Given the description of an element on the screen output the (x, y) to click on. 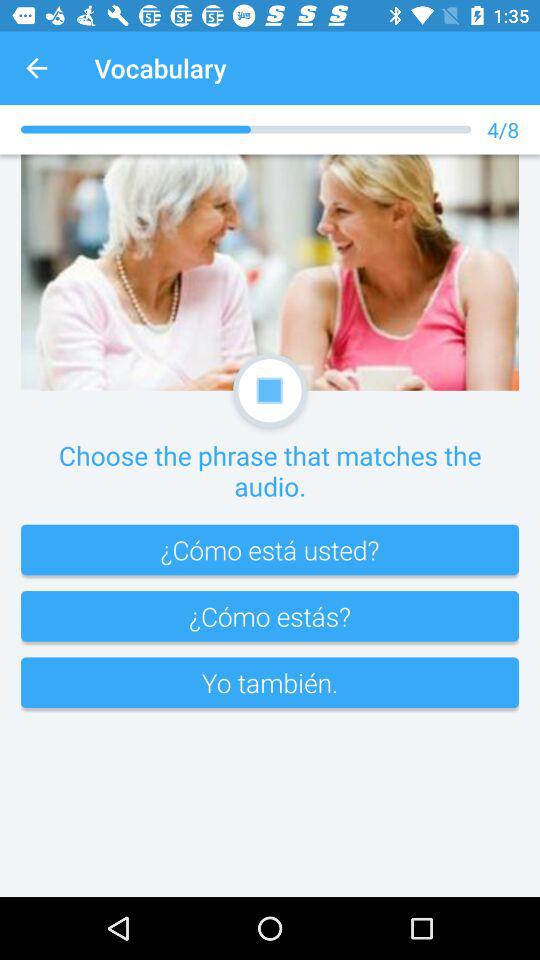
click icon next to vocabulary (36, 68)
